Given the description of an element on the screen output the (x, y) to click on. 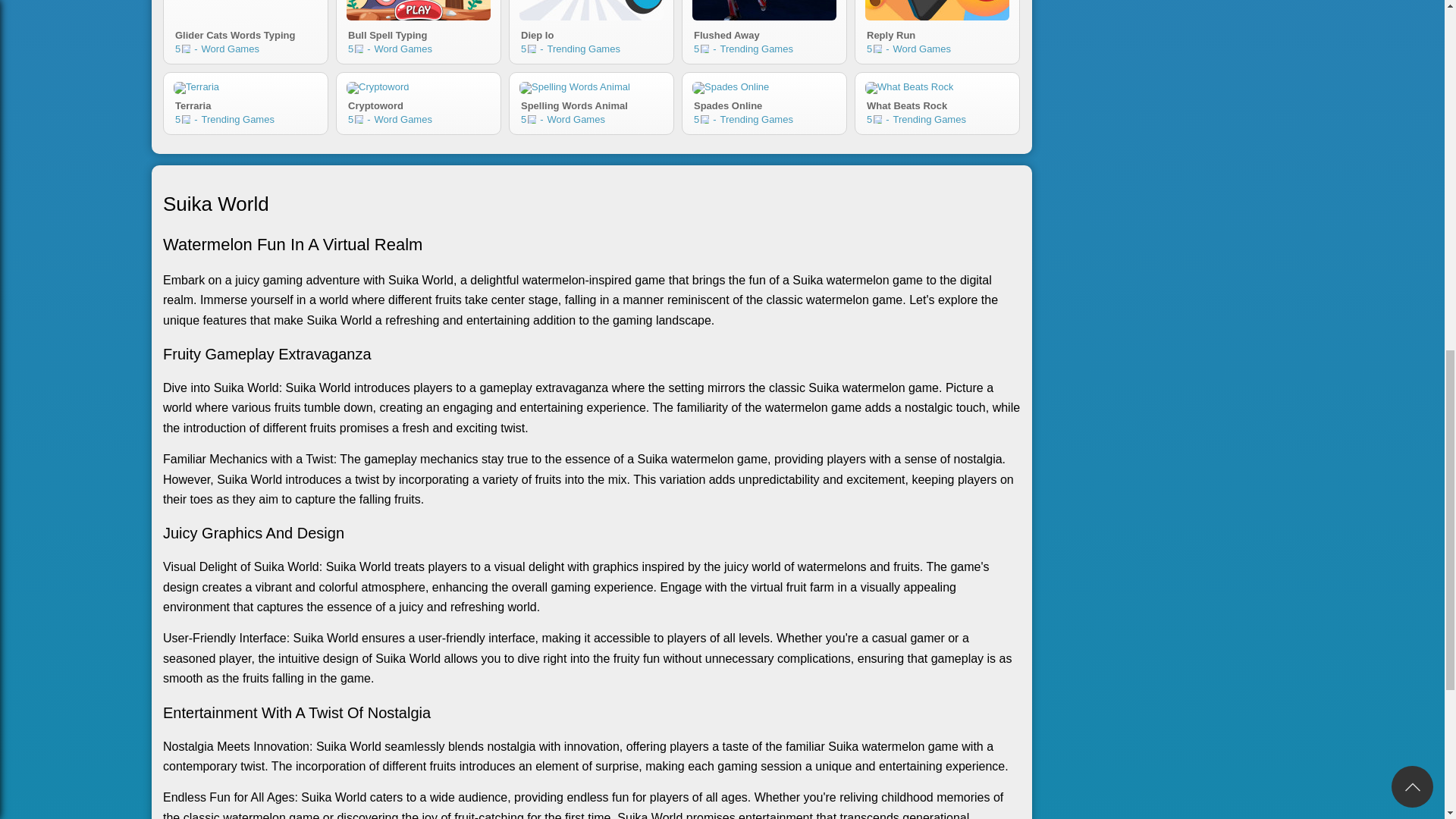
numrate (704, 119)
Glider Cats Words Typing (245, 10)
Terraria (196, 87)
numrate (186, 119)
numrate (764, 103)
Bull Spell Typing (186, 49)
numrate (418, 10)
numrate (358, 119)
Flushed Away (418, 103)
Diep io (245, 33)
numrate (531, 49)
